Given the description of an element on the screen output the (x, y) to click on. 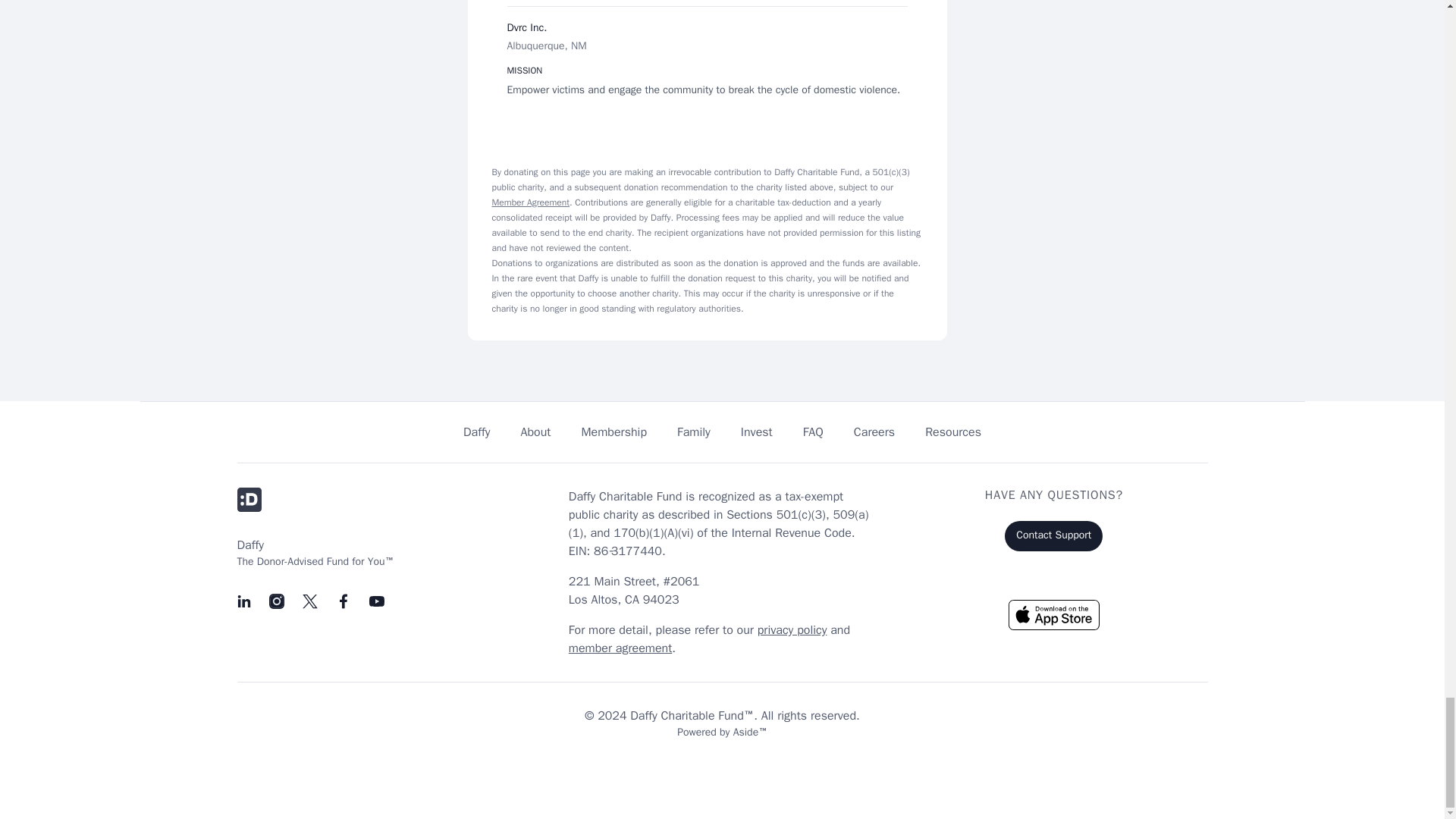
Member Agreement (530, 202)
